Given the description of an element on the screen output the (x, y) to click on. 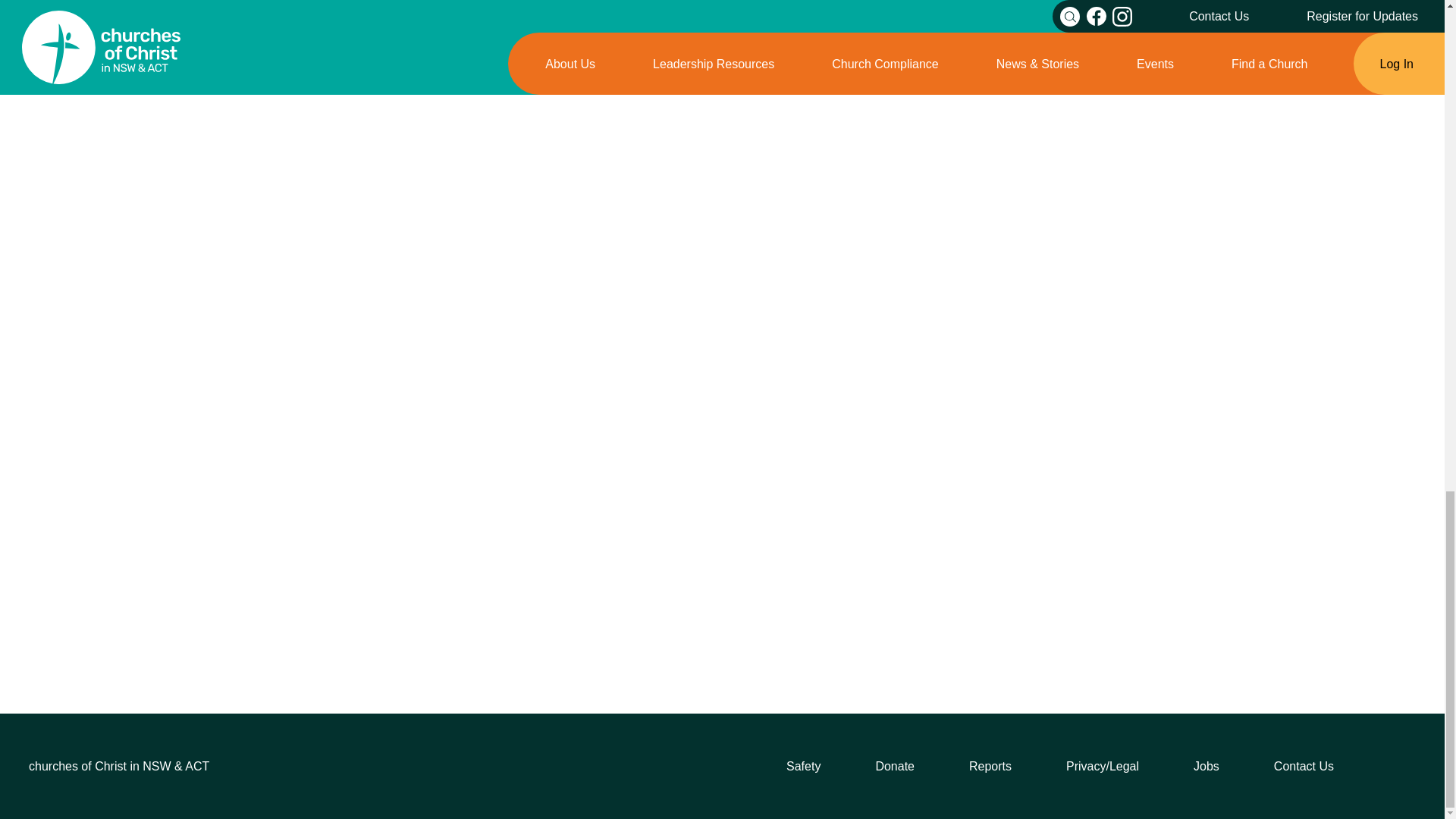
Jobs (1206, 766)
Donate (894, 766)
Safety (803, 766)
Reports (990, 766)
Contact Us (1303, 766)
